Given the description of an element on the screen output the (x, y) to click on. 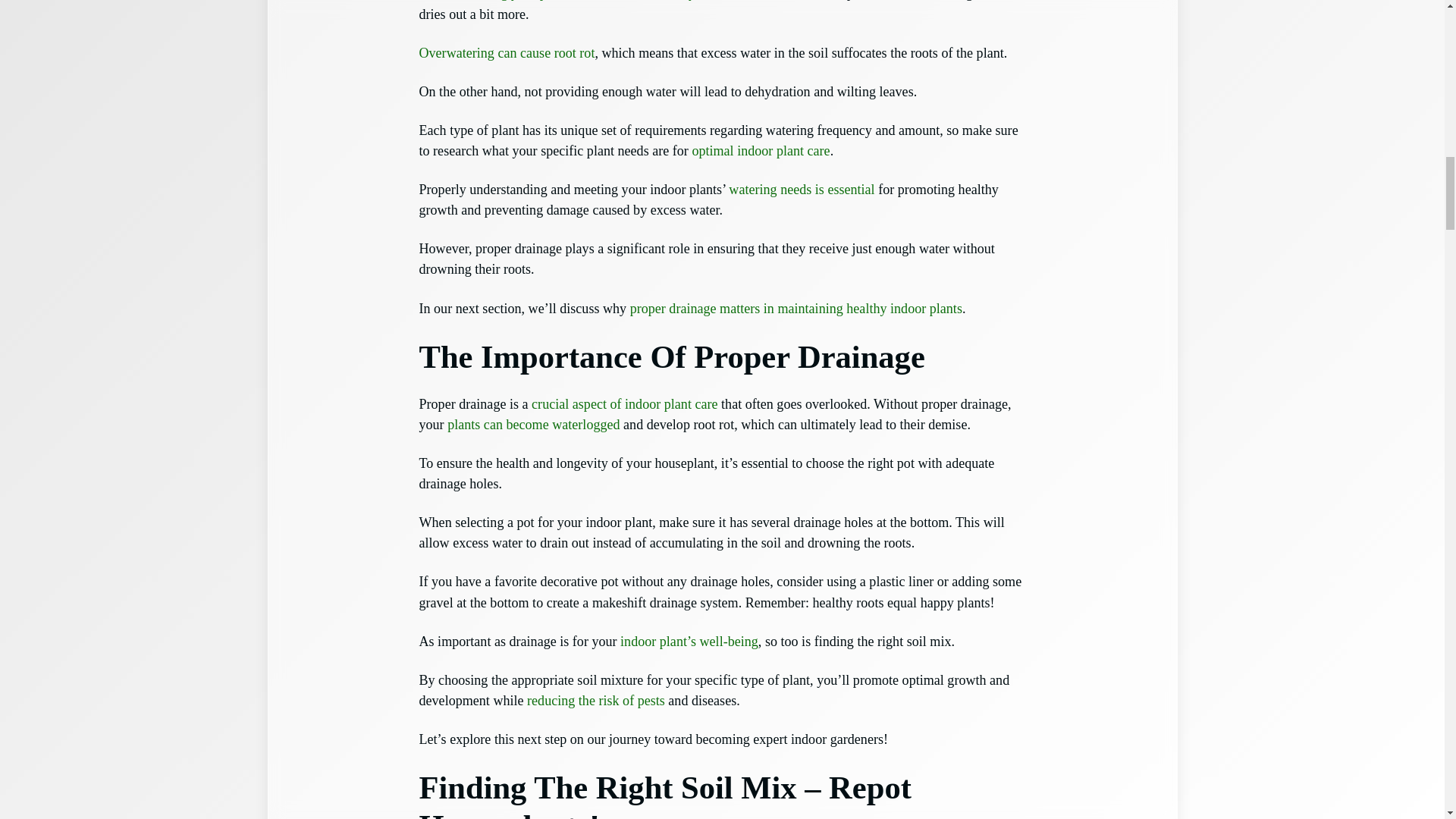
plants can become waterlogged (533, 424)
watering needs is essential (802, 189)
crucial aspect of indoor plant care (624, 403)
Overwatering can cause root rot (506, 52)
optimal indoor plant care (760, 150)
soil is dry (668, 0)
proper drainage matters in maintaining healthy indoor plants (796, 308)
reducing the risk of pests (596, 700)
